Given the description of an element on the screen output the (x, y) to click on. 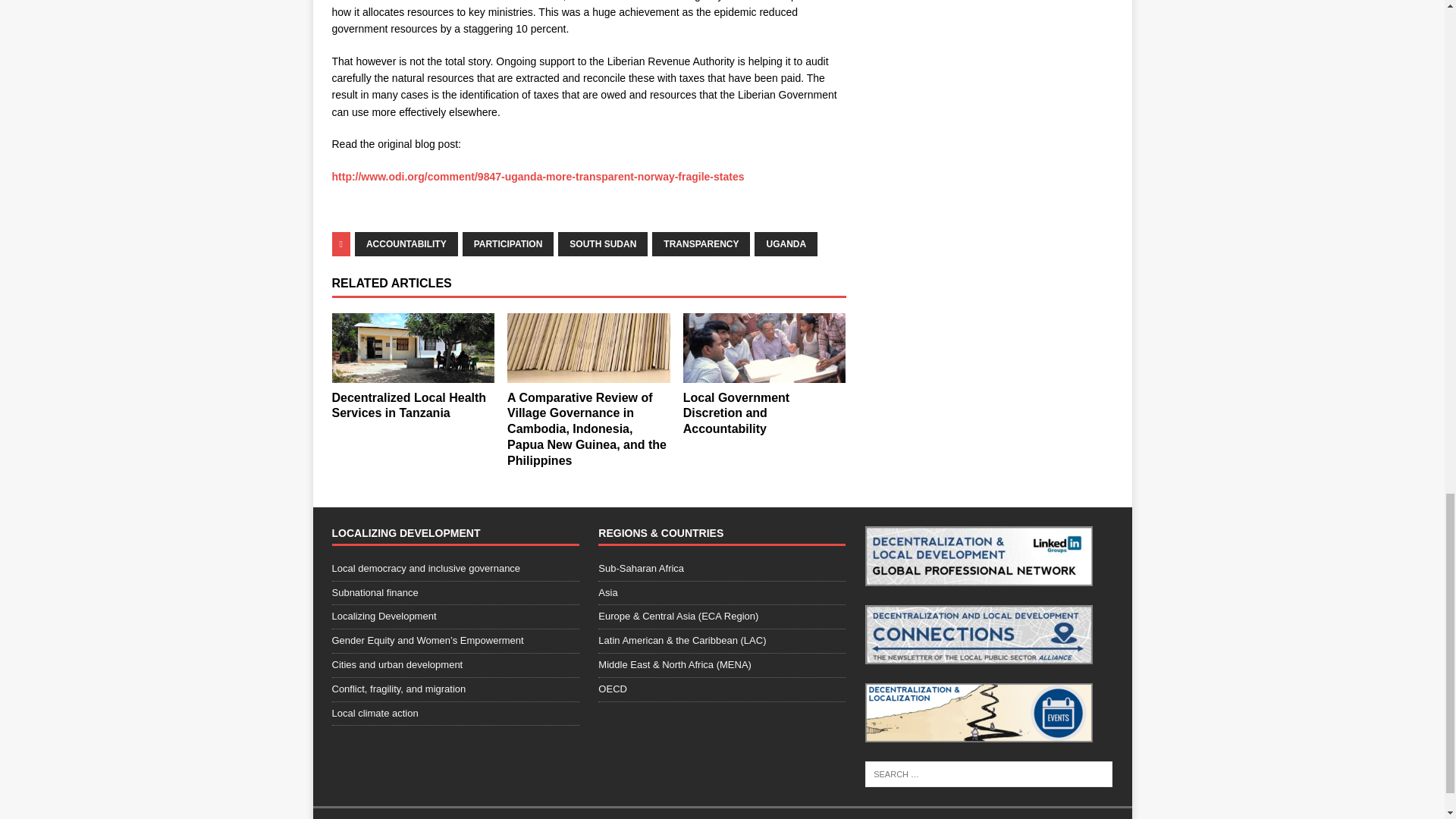
Local Government Discretion and Accountability (763, 347)
Decentralized Local Health Services in Tanzania (413, 347)
Decentralized Local Health Services in Tanzania (408, 405)
Local Government Discretion and Accountability (735, 413)
